Given the description of an element on the screen output the (x, y) to click on. 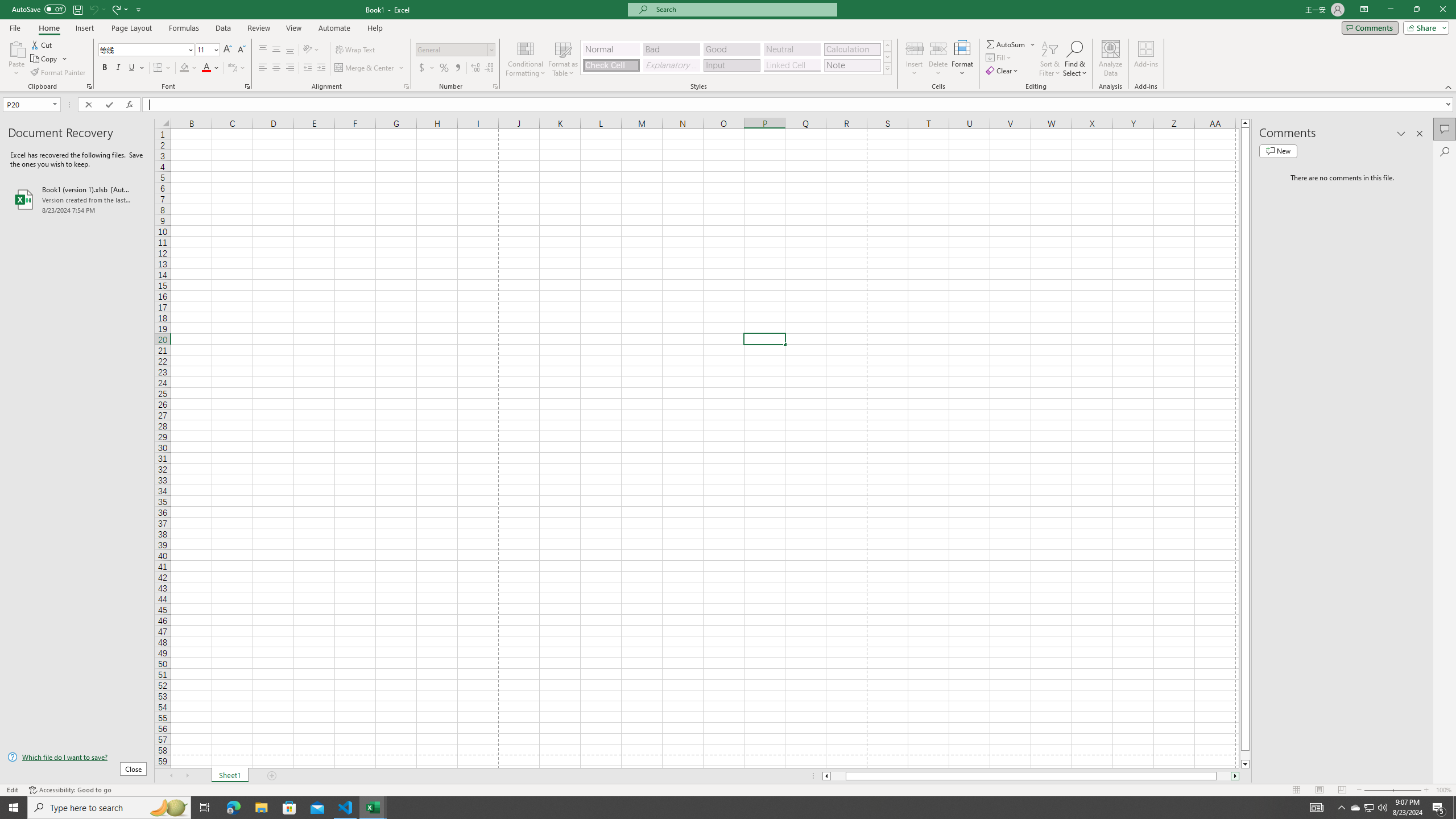
Calculation (852, 49)
Sort & Filter (1049, 58)
Decrease Indent (307, 67)
Analyze Data (1110, 58)
